Given the description of an element on the screen output the (x, y) to click on. 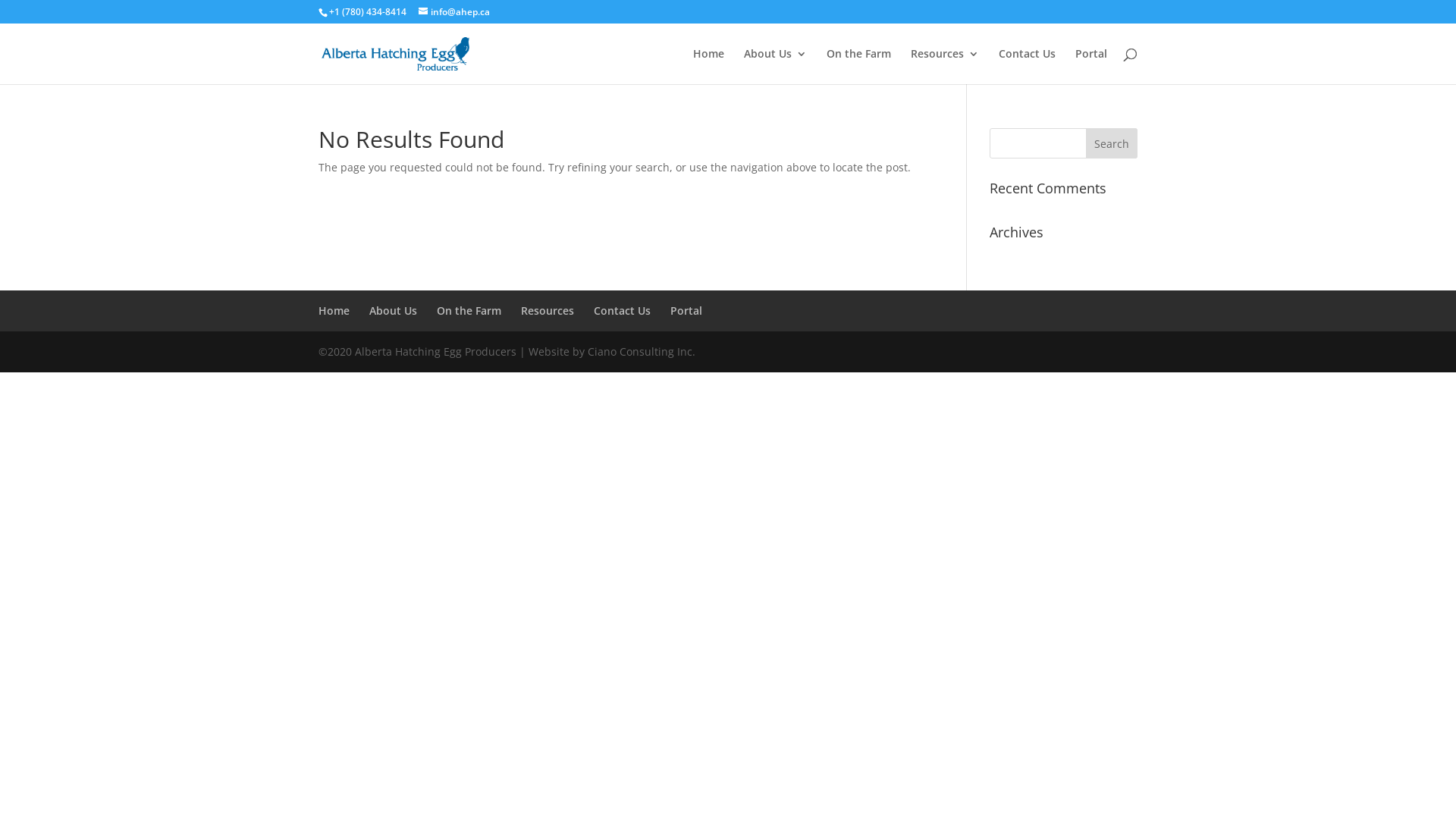
Contact Us Element type: text (621, 310)
Resources Element type: text (547, 310)
Home Element type: text (708, 66)
On the Farm Element type: text (858, 66)
info@ahep.ca Element type: text (453, 11)
Search Element type: text (1111, 143)
On the Farm Element type: text (468, 310)
Contact Us Element type: text (1026, 66)
About Us Element type: text (393, 310)
Home Element type: text (333, 310)
Resources Element type: text (944, 66)
Portal Element type: text (1091, 66)
About Us Element type: text (774, 66)
Portal Element type: text (686, 310)
